Given the description of an element on the screen output the (x, y) to click on. 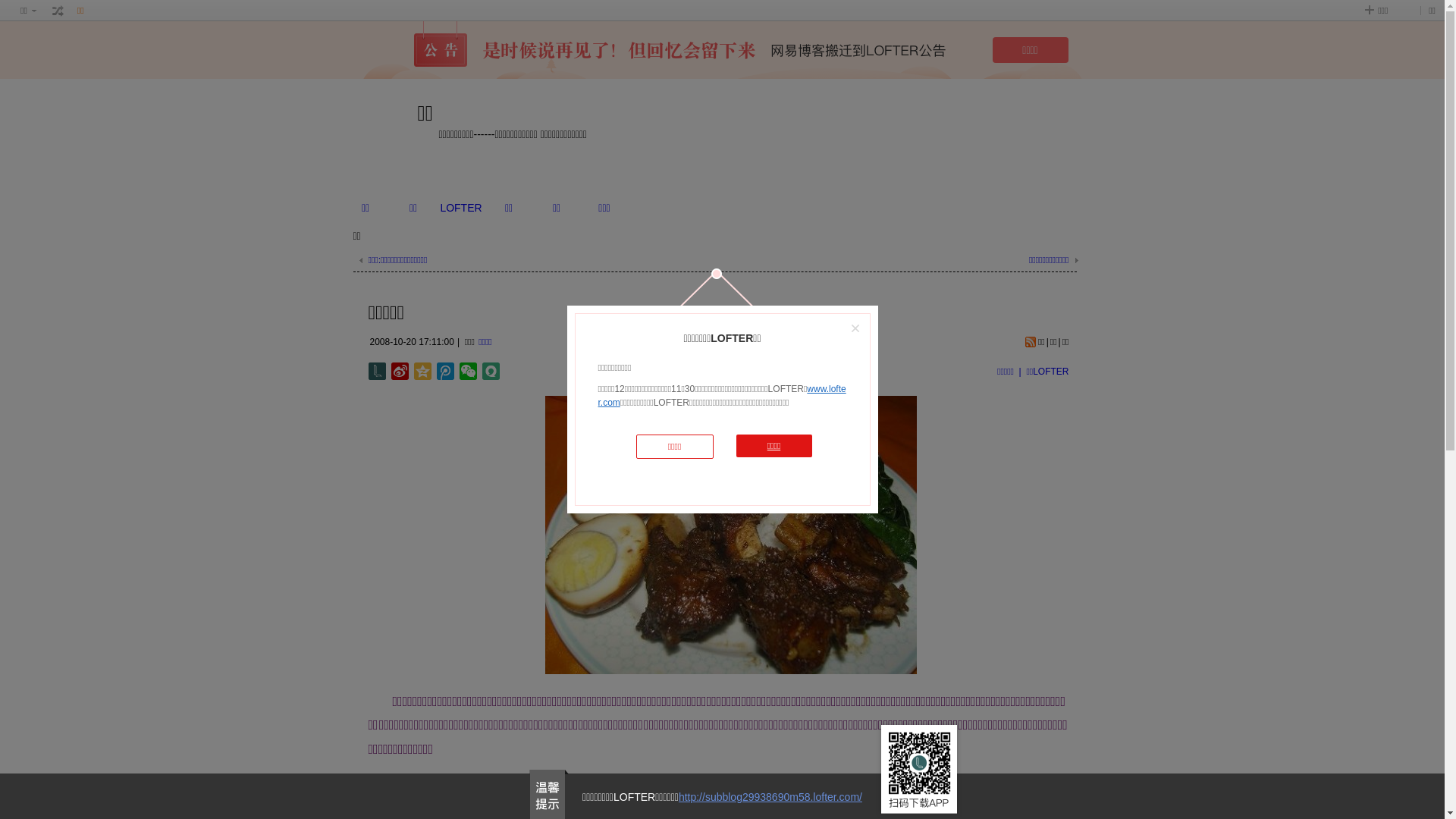
http://subblog29938690m58.lofter.com/ Element type: text (770, 796)
LOFTER Element type: text (460, 207)
www.lofter.com Element type: text (721, 395)
  Element type: text (58, 10)
